Given the description of an element on the screen output the (x, y) to click on. 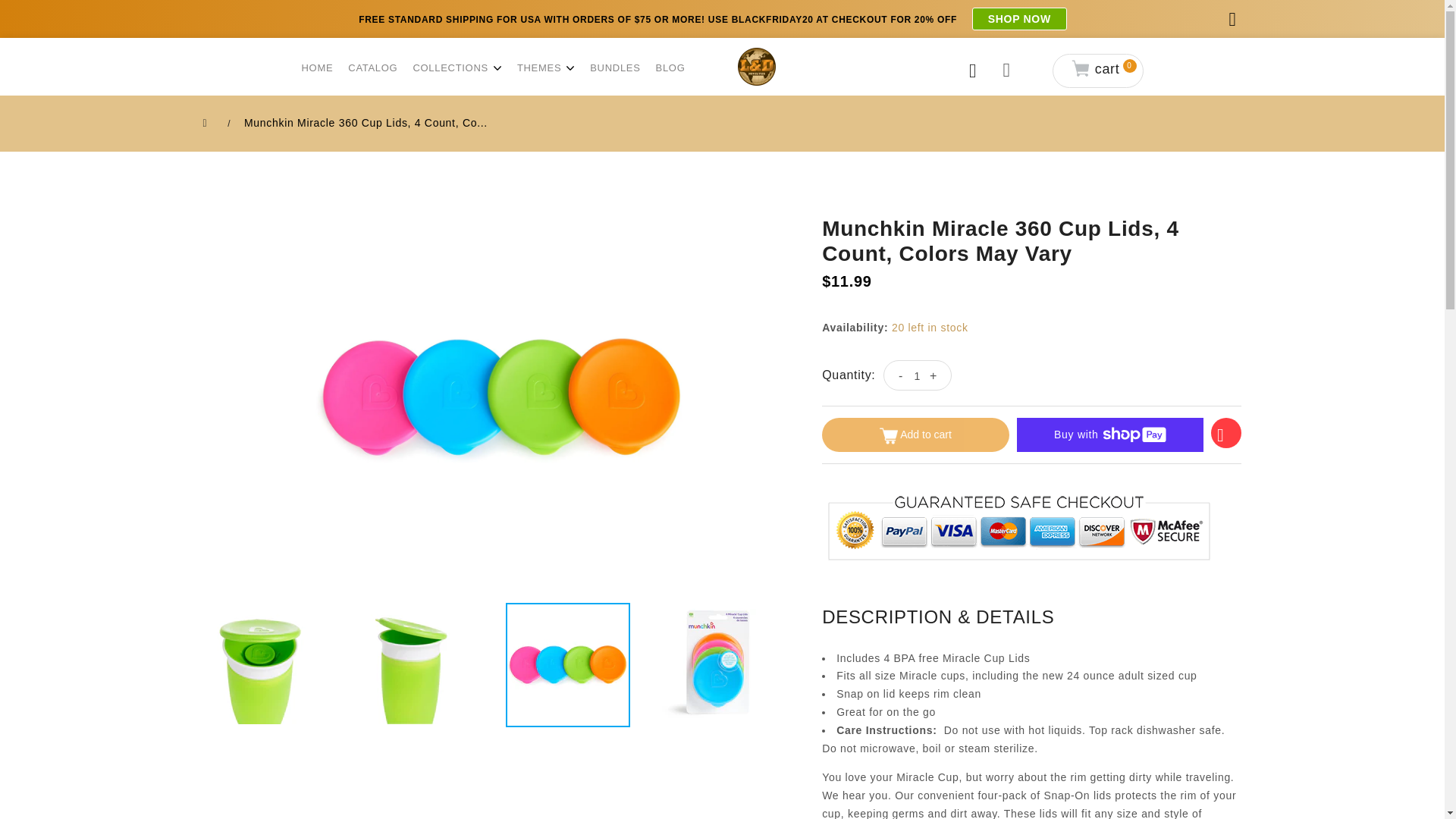
1 (917, 376)
CATALOG (372, 66)
Wishlist (1226, 429)
COLLECTIONS (452, 66)
HOME (317, 66)
Back to the home page (207, 122)
SHOP NOW (1019, 18)
